Given the description of an element on the screen output the (x, y) to click on. 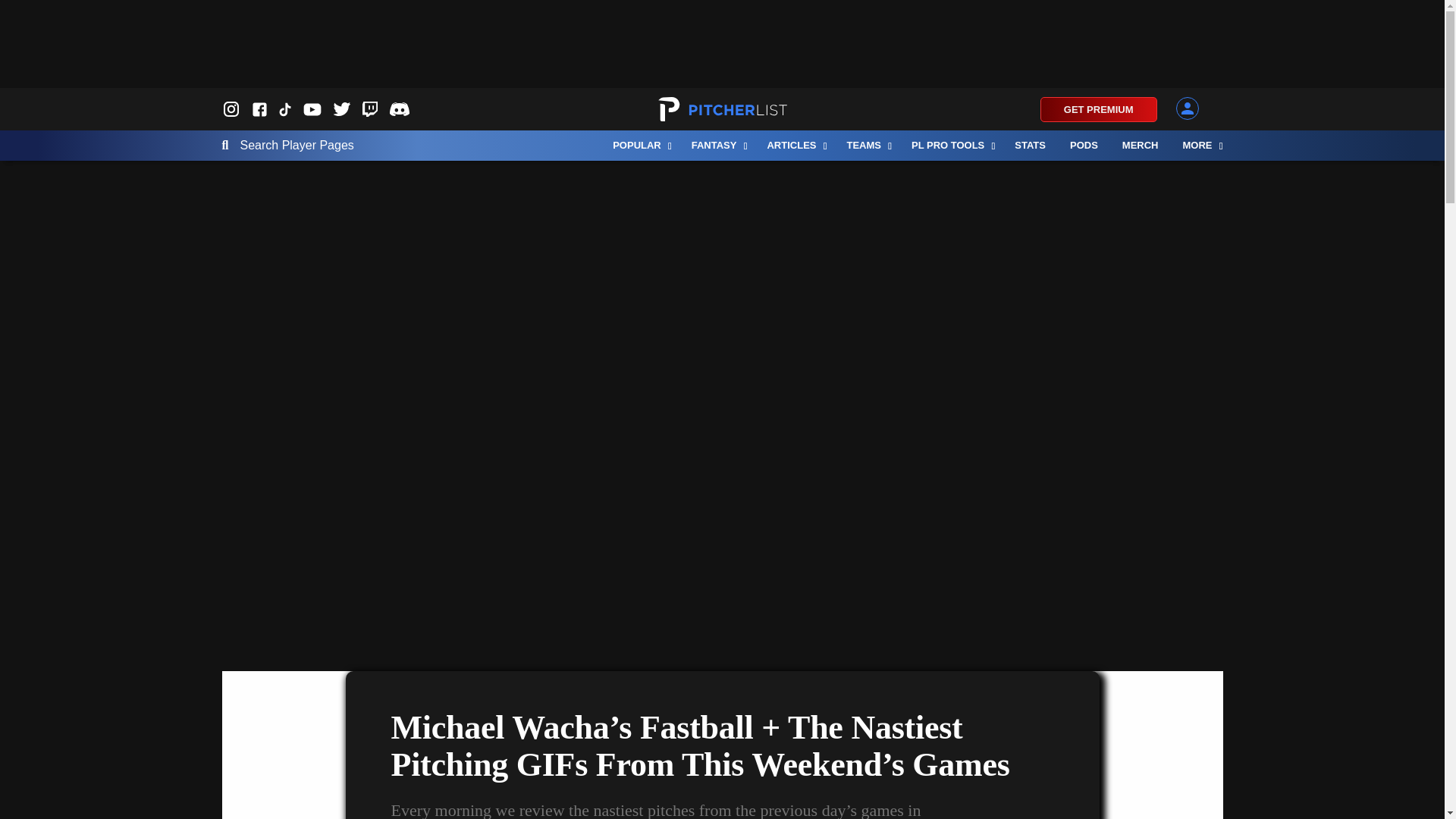
FANTASY (717, 145)
GET PREMIUM (1099, 109)
